Given the description of an element on the screen output the (x, y) to click on. 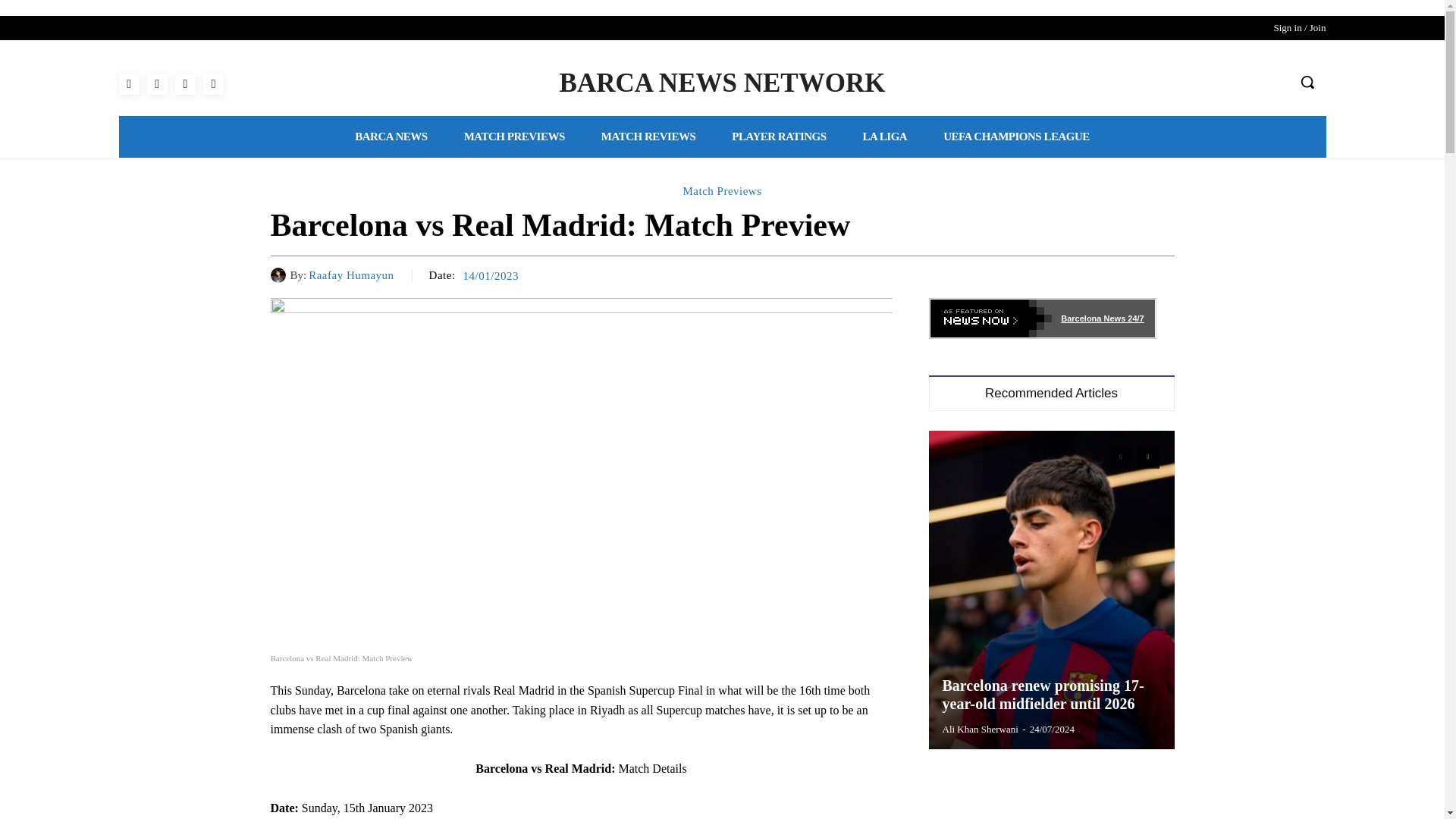
Twitter (213, 83)
Raafay Humayun (279, 274)
RSS (184, 83)
UEFA CHAMPIONS LEAGUE (1016, 137)
LA LIGA (885, 137)
Barcelona renew promising 17-year-old midfielder until 2026 (1050, 589)
MATCH PREVIEWS (514, 137)
Barcelona renew promising 17-year-old midfielder until 2026 (1042, 694)
BARCA NEWS (390, 137)
Match Previews (721, 191)
Click here for more Barcelona news from NewsNow (1042, 318)
Instagram (157, 83)
Raafay Humayun (350, 274)
PLAYER RATINGS (778, 137)
Facebook (127, 83)
